Given the description of an element on the screen output the (x, y) to click on. 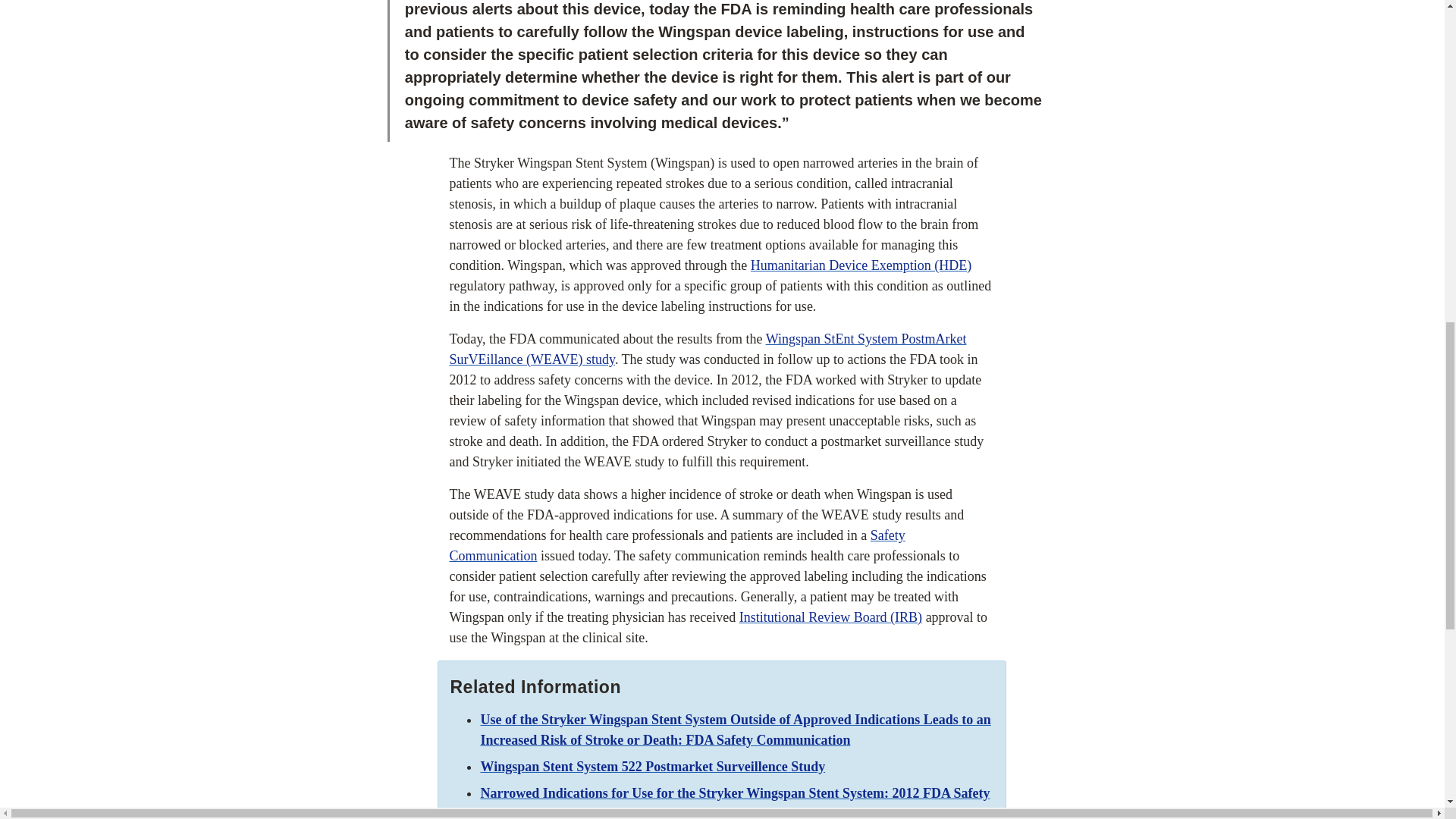
Humanitarian Device Exemption (861, 264)
